Given the description of an element on the screen output the (x, y) to click on. 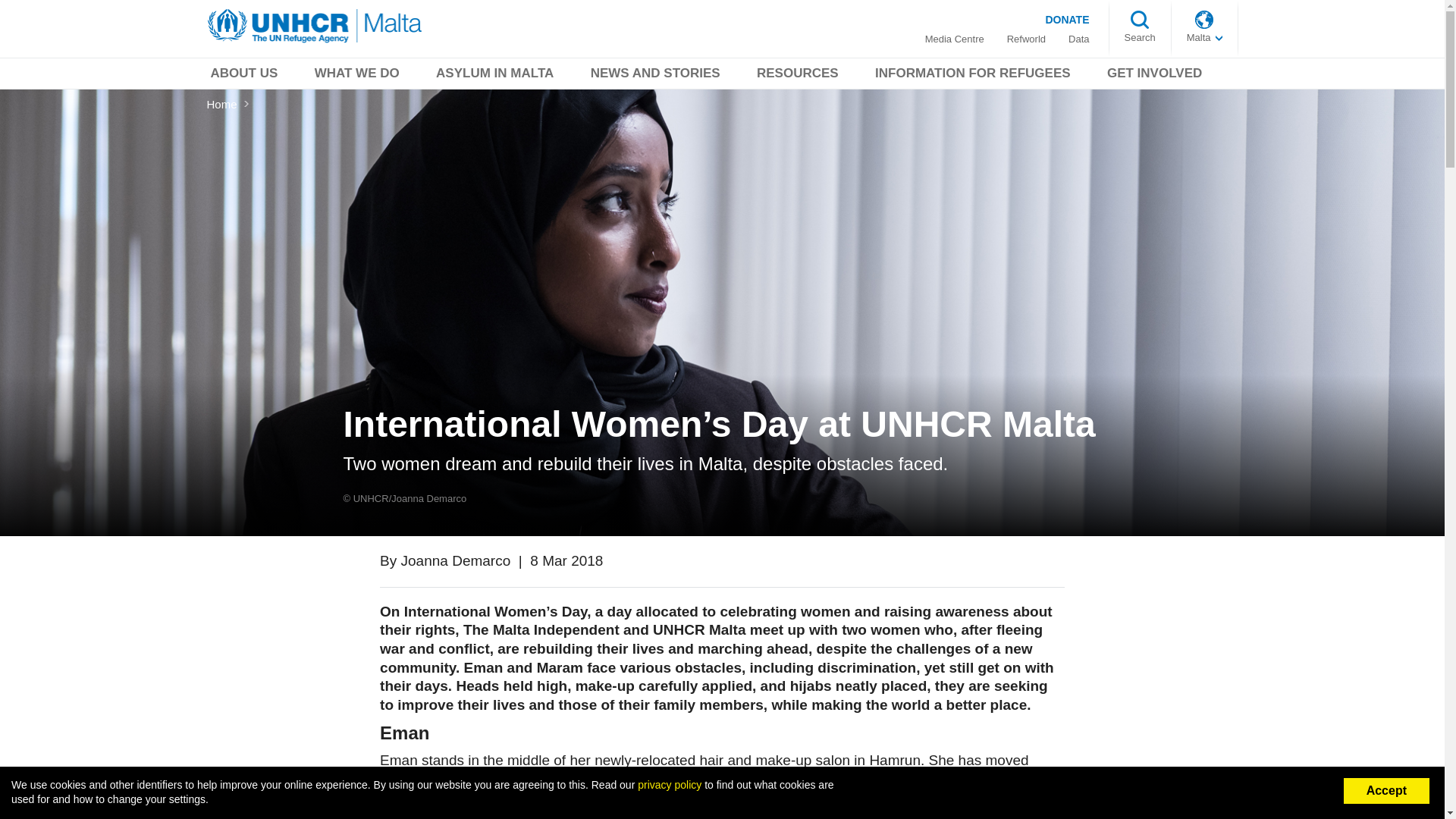
INFORMATION FOR REFUGEES (972, 76)
RESOURCES (797, 76)
DONATE (1066, 19)
UNHCR Malta (315, 25)
Refworld (1025, 38)
Data (1078, 38)
NEWS AND STORIES (654, 76)
Malta (1204, 38)
ABOUT US (243, 76)
Media Centre (954, 38)
